Given the description of an element on the screen output the (x, y) to click on. 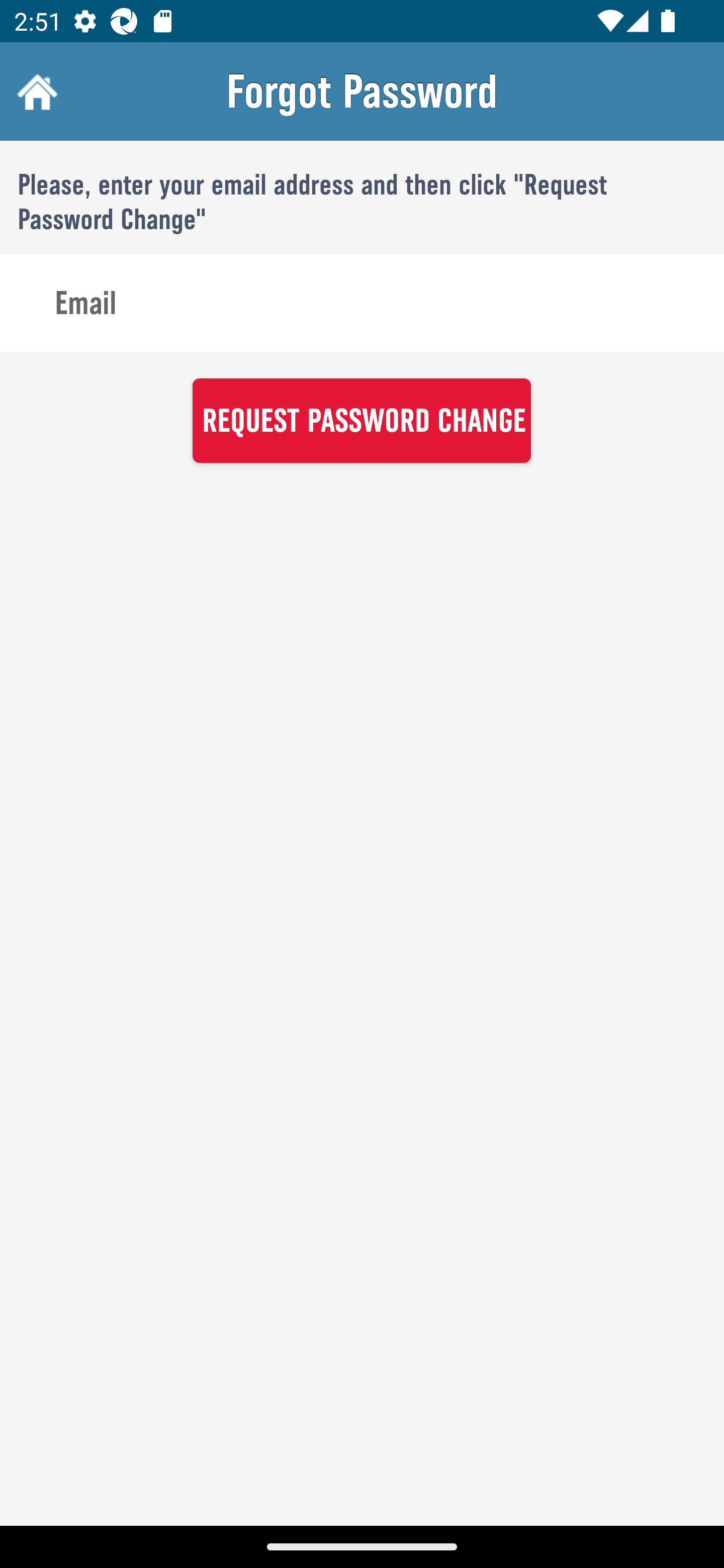
Home (35, 91)
Email (361, 303)
REQUEST PASSWORD CHANGE (361, 419)
